Given the description of an element on the screen output the (x, y) to click on. 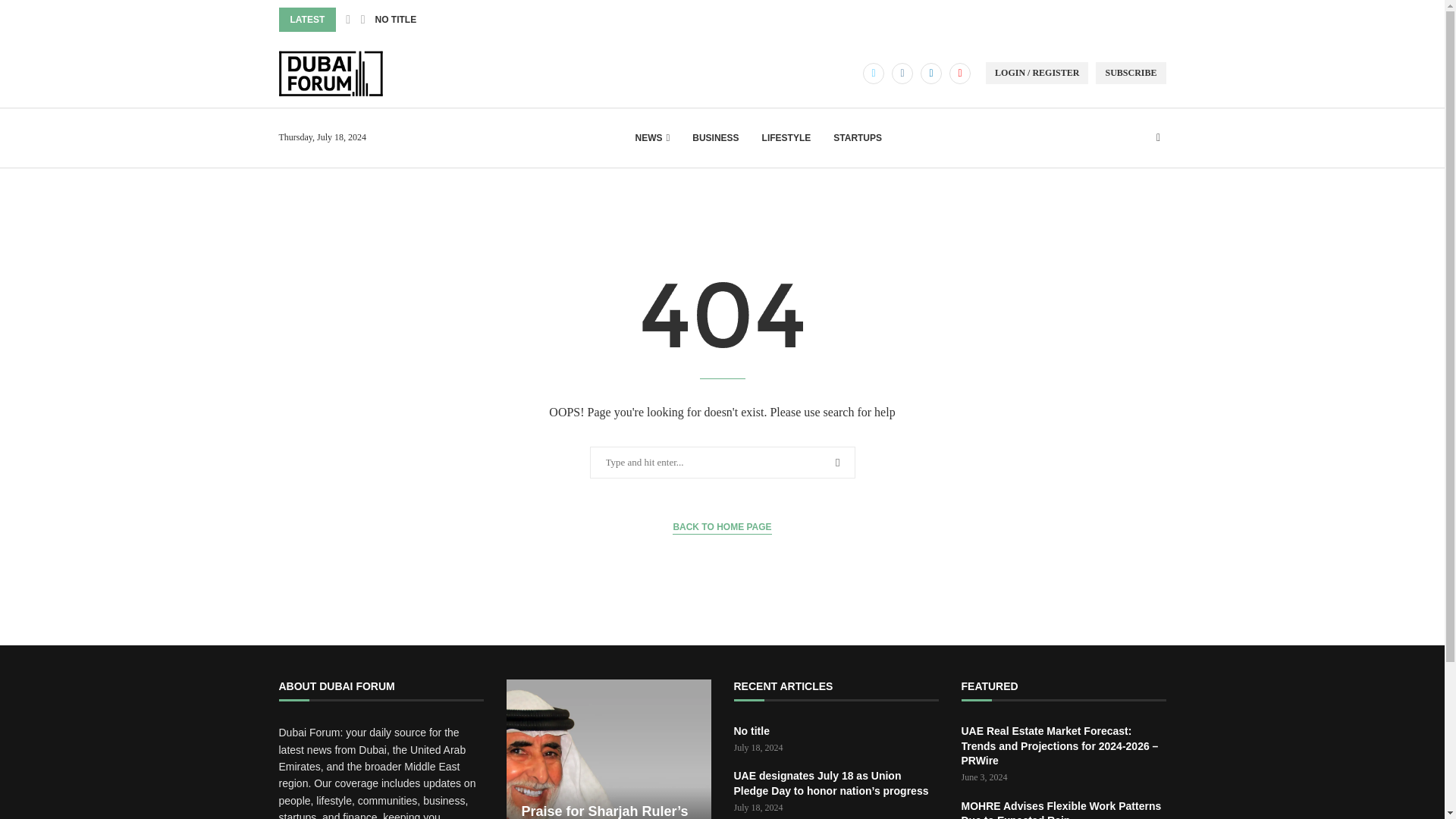
STARTUPS (857, 137)
NEWS (651, 137)
BUSINESS (715, 137)
LIFESTYLE (785, 137)
NO TITLE (395, 19)
SUBSCRIBE (1131, 73)
